Given the description of an element on the screen output the (x, y) to click on. 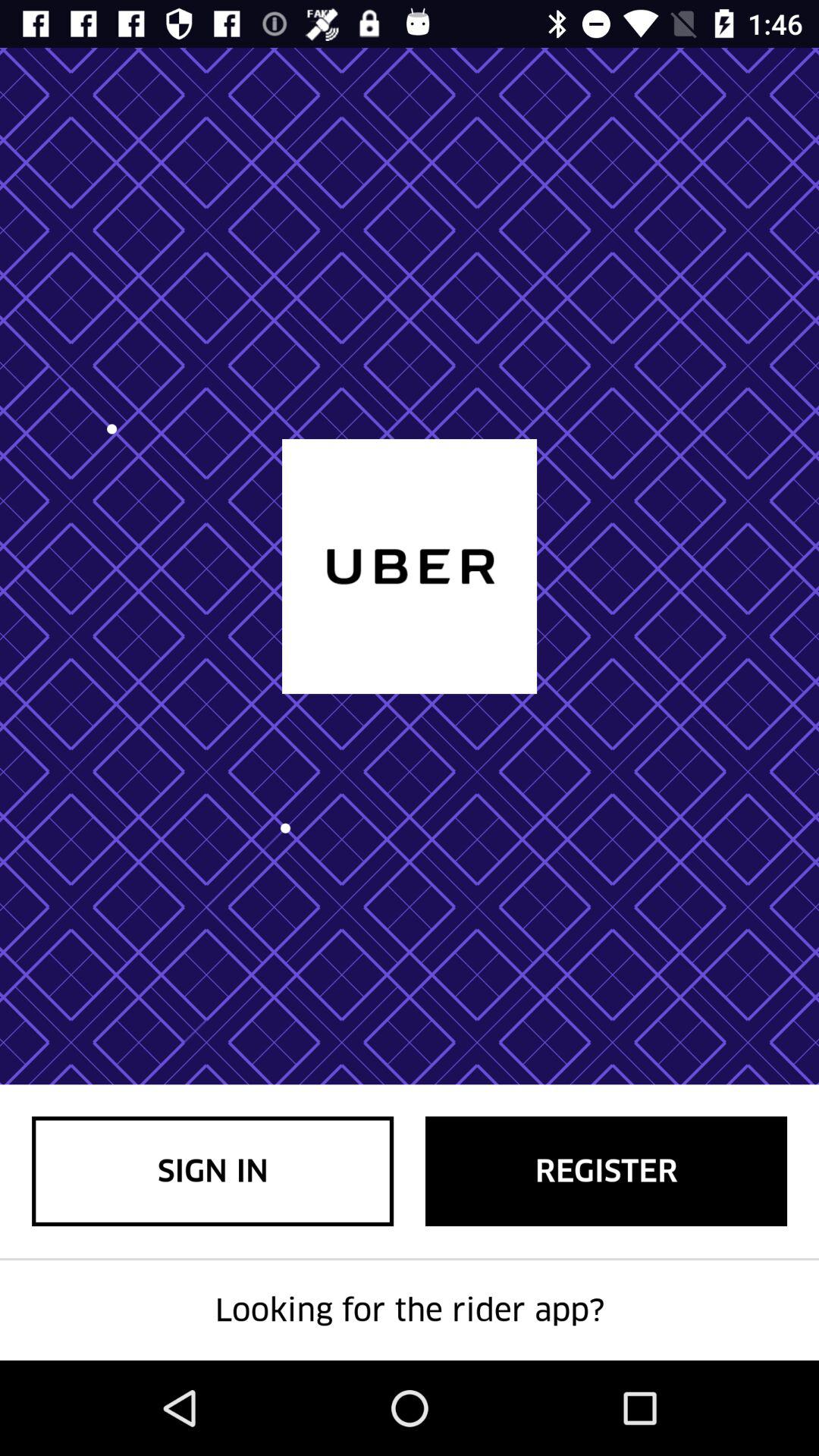
open item to the right of sign in icon (606, 1171)
